Given the description of an element on the screen output the (x, y) to click on. 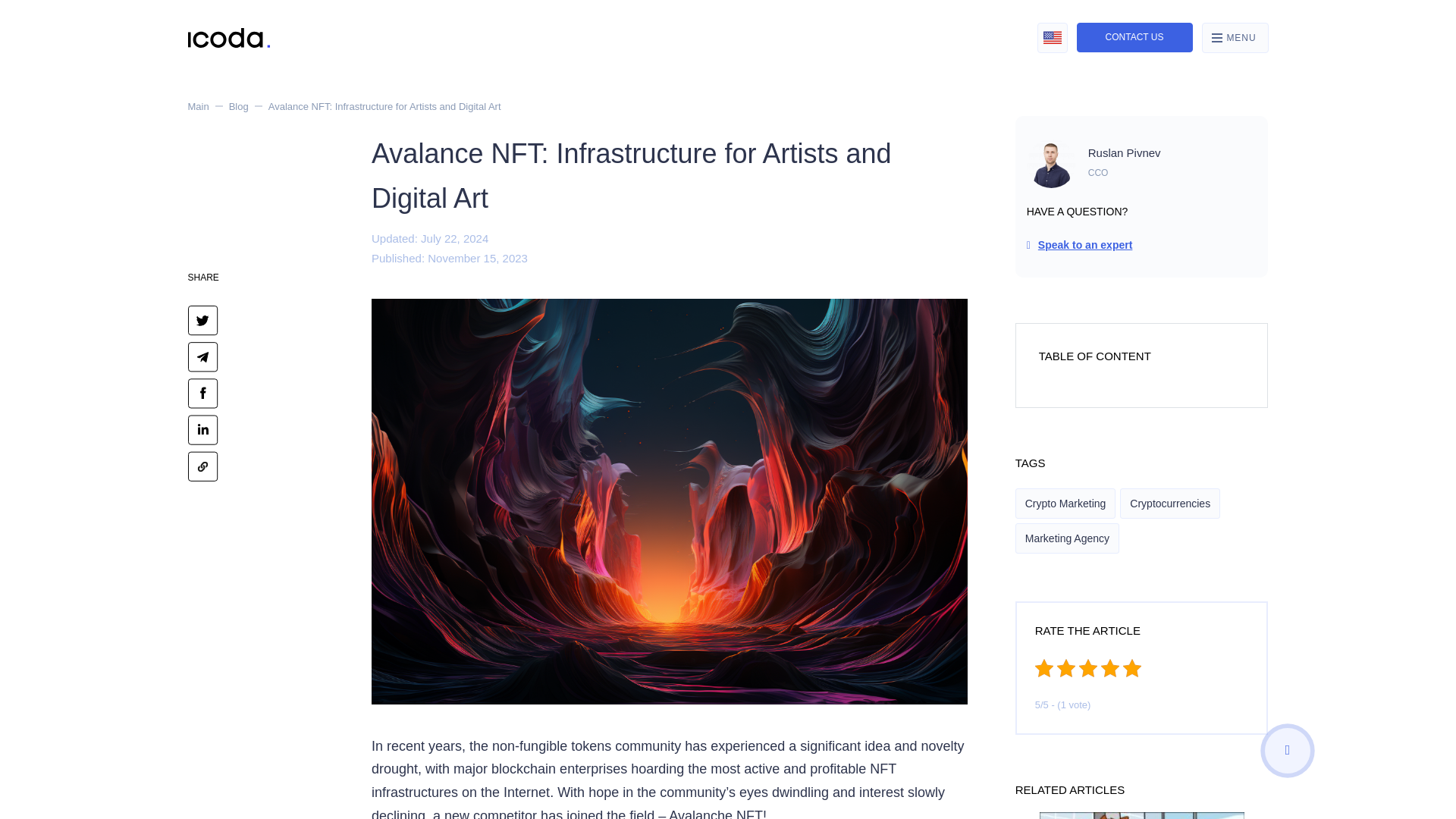
Share on Facebook (202, 391)
Share on Linkedin (202, 428)
Share on Twitter (202, 318)
Share on Telegram (202, 355)
Copy to clipboard (202, 464)
